Given the description of an element on the screen output the (x, y) to click on. 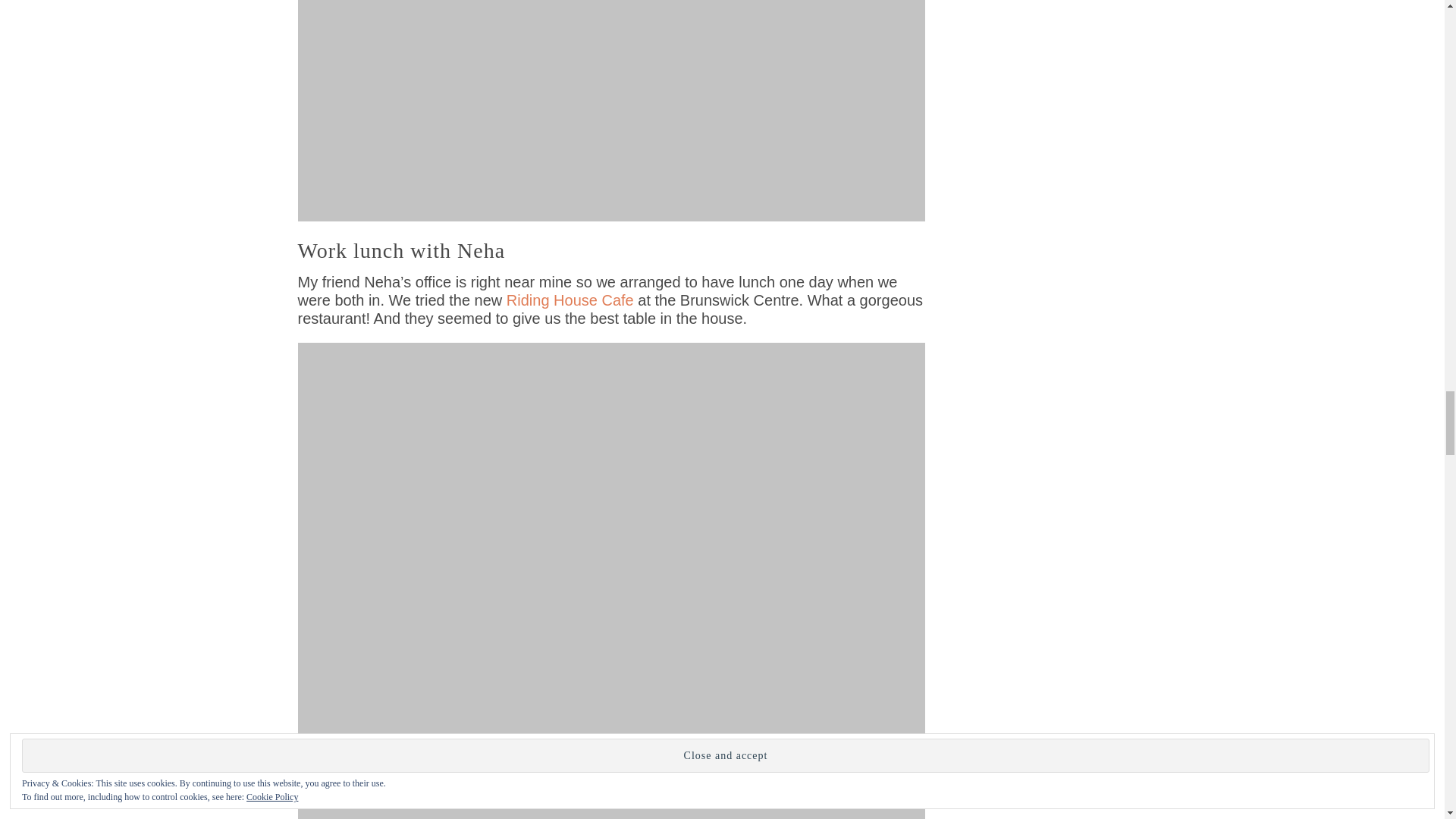
Riding House Cafe (569, 299)
